Given the description of an element on the screen output the (x, y) to click on. 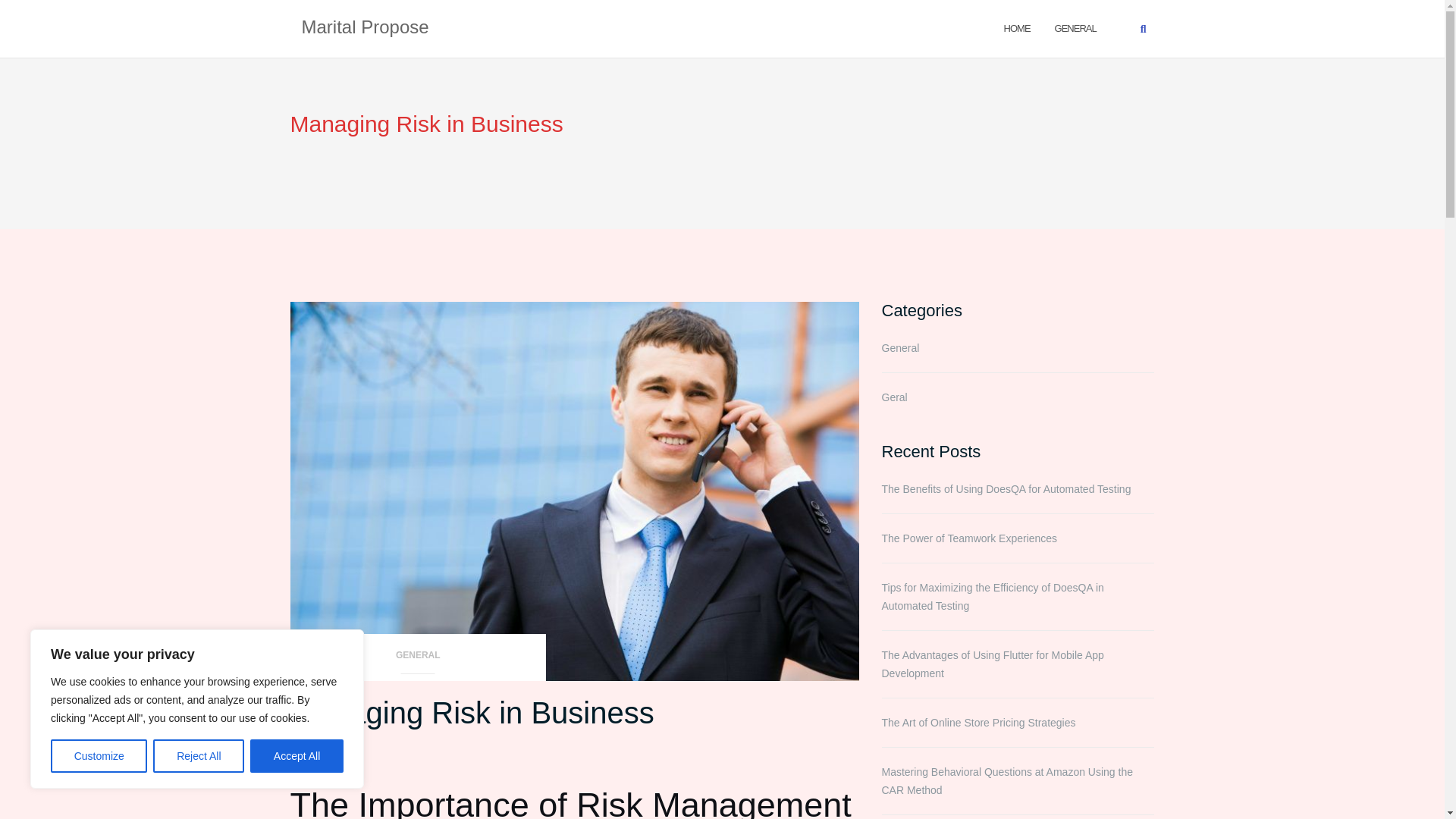
GENERAL (417, 660)
Managing Risk in Business (471, 712)
Marital Propose (365, 28)
Accept All (296, 756)
General (1075, 28)
Customize (98, 756)
Reject All (198, 756)
GENERAL (1075, 28)
